Given the description of an element on the screen output the (x, y) to click on. 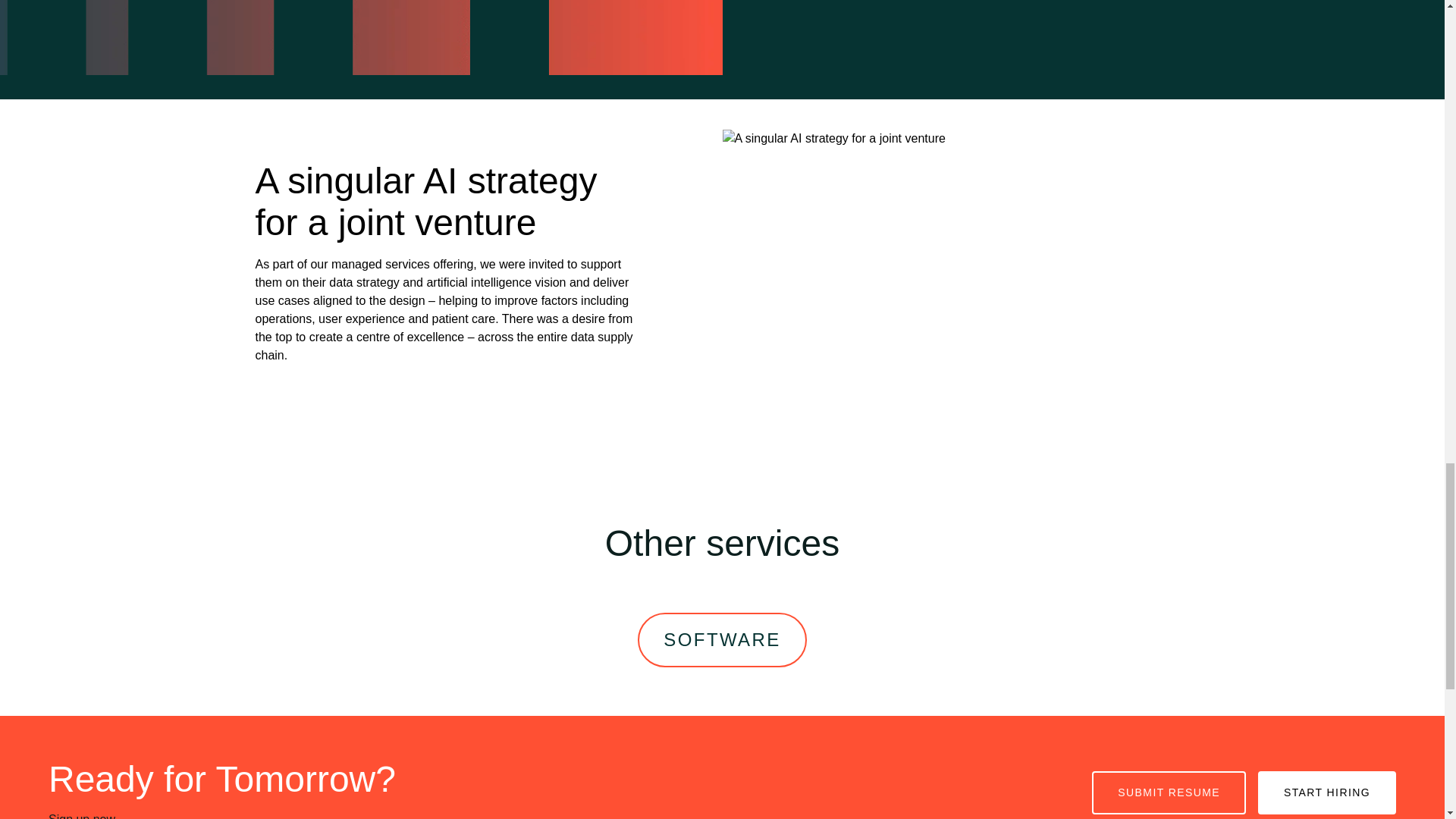
SUBMIT RESUME (1169, 792)
SOFTWARE (721, 639)
START HIRING (1326, 792)
